Given the description of an element on the screen output the (x, y) to click on. 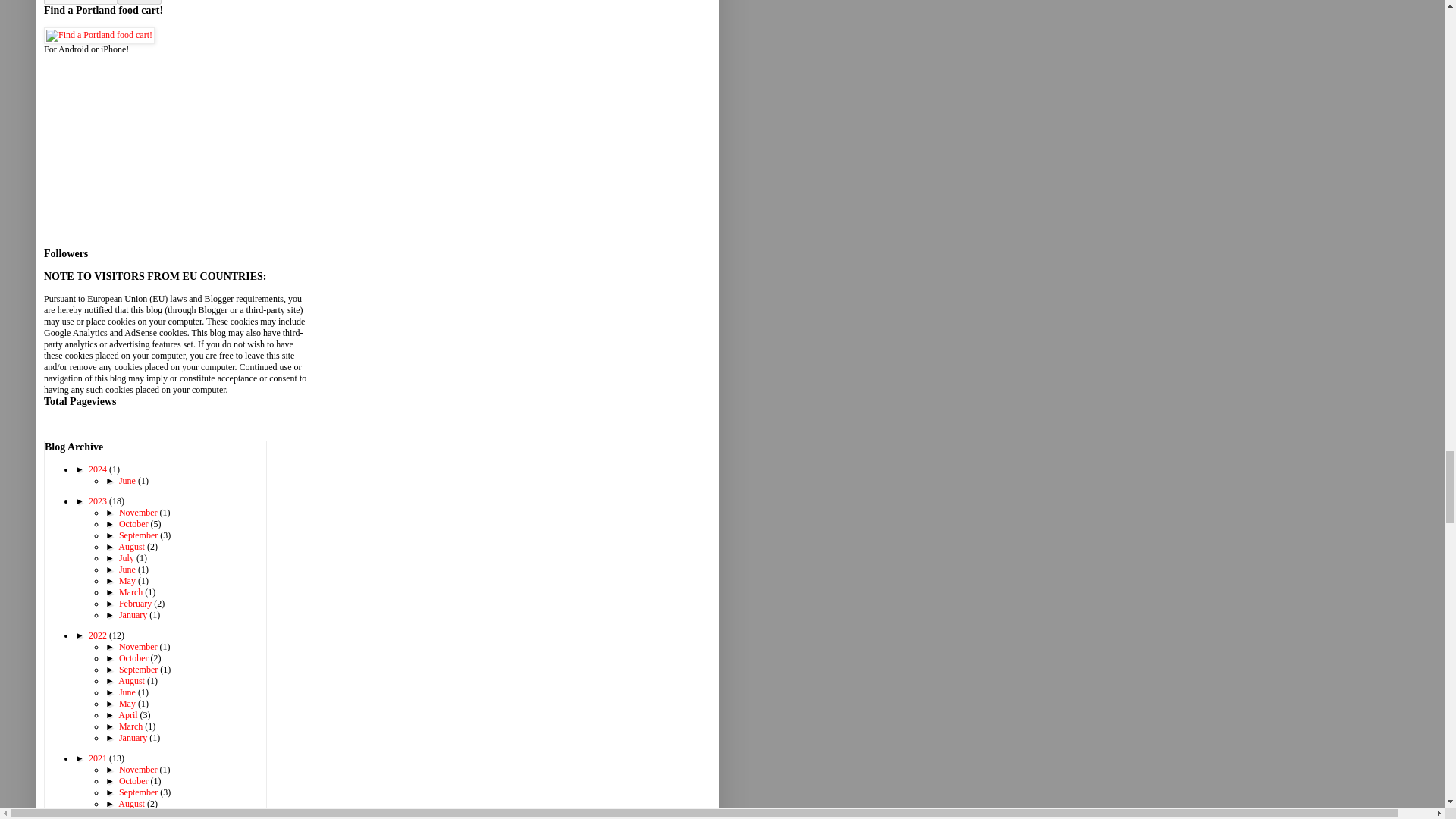
Search (139, 2)
Search (139, 2)
